Given the description of an element on the screen output the (x, y) to click on. 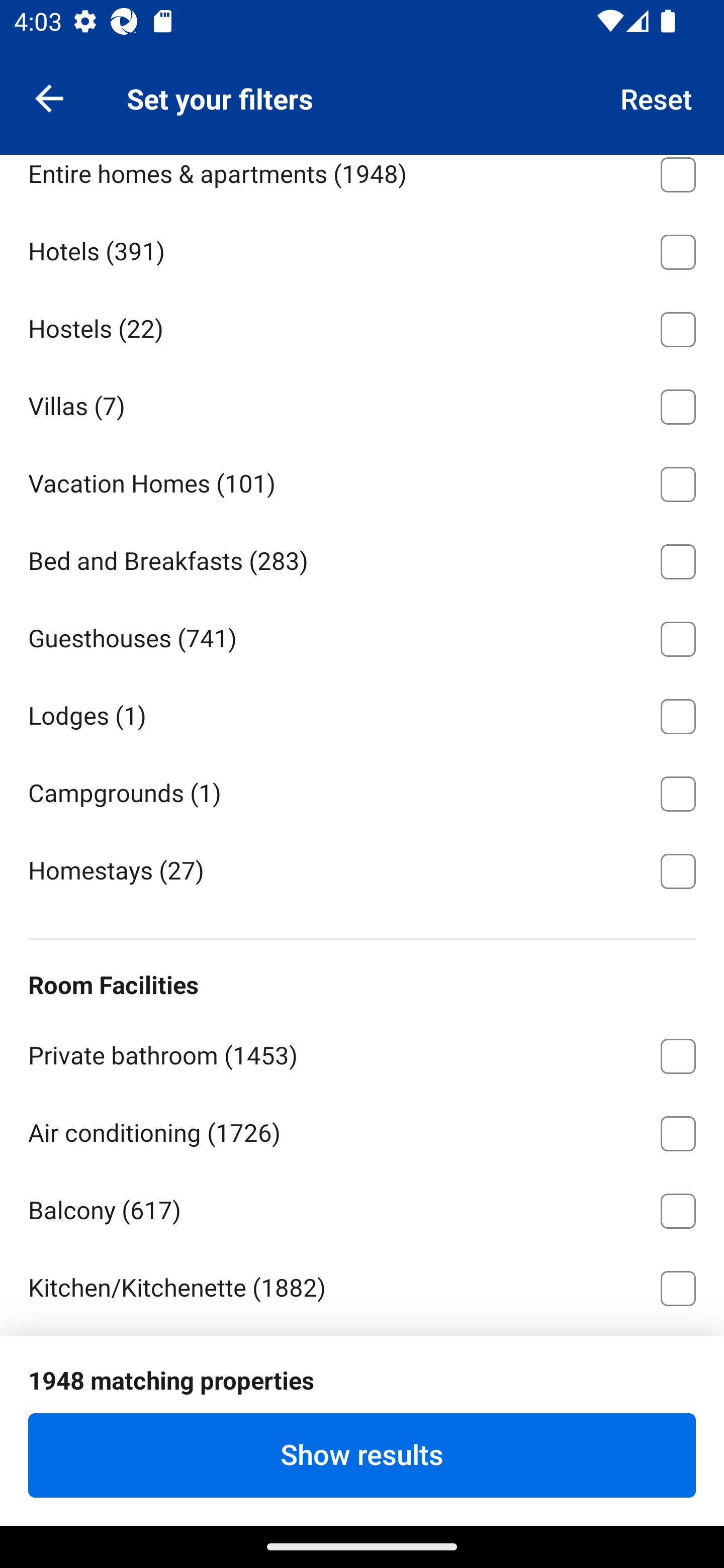
Navigate up (49, 97)
Apartments ⁦(1945) (361, 93)
Reset (656, 97)
Entire homes & apartments ⁦(1948) (361, 182)
Hotels ⁦(391) (361, 248)
Hostels ⁦(22) (361, 325)
Villas ⁦(7) (361, 403)
Vacation Homes ⁦(101) (361, 480)
Bed and Breakfasts ⁦(283) (361, 558)
Guesthouses ⁦(741) (361, 635)
Lodges ⁦(1) (361, 712)
Campgrounds ⁦(1) (361, 790)
Homestays ⁦(27) (361, 869)
Private bathroom ⁦(1453) (361, 1052)
Air conditioning ⁦(1726) (361, 1130)
Balcony ⁦(617) (361, 1207)
Kitchen/Kitchenette ⁦(1882) (361, 1284)
Show results (361, 1454)
